Given the description of an element on the screen output the (x, y) to click on. 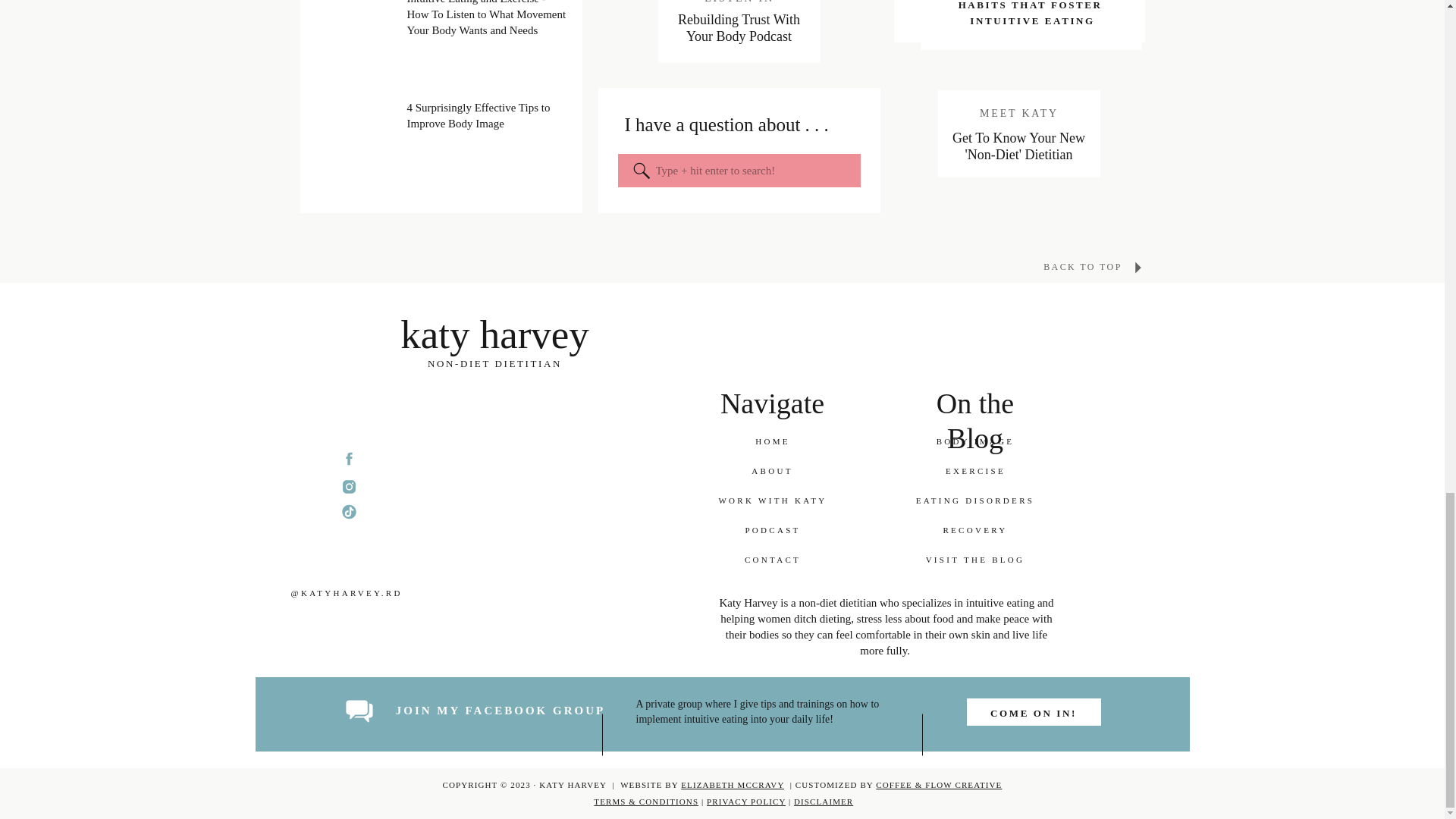
FREE GUIDE: 10 DAILY HABITS THAT FOSTER  INTUITIVE EATING (1032, 15)
MEET KATY (1018, 112)
Get To Know Your New 'Non-Diet' Dietitian (1018, 146)
SEE SERVICES (1018, 6)
